Given the description of an element on the screen output the (x, y) to click on. 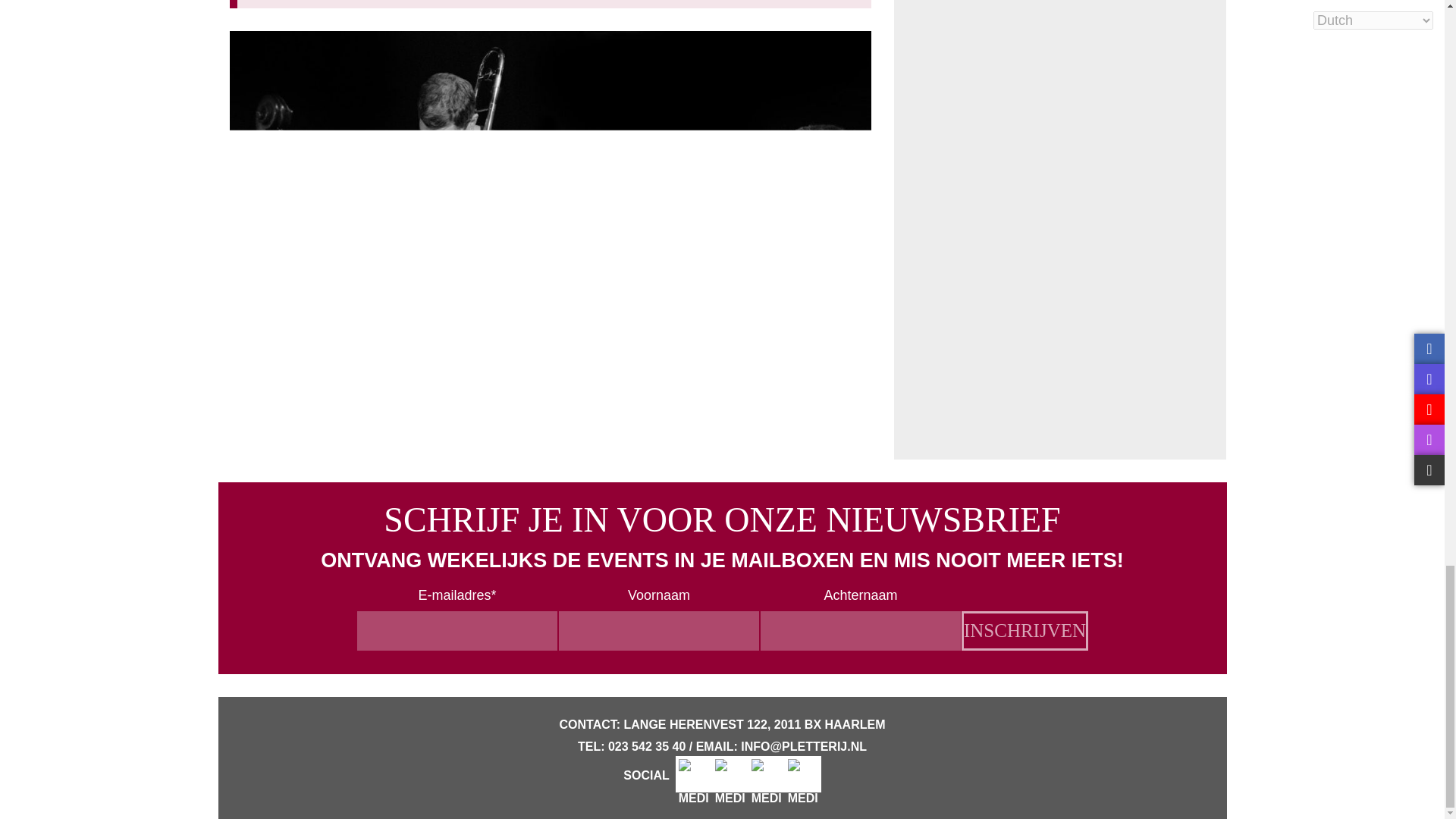
023 542 35 40 (646, 746)
instagram (729, 773)
023 542 35 40 (646, 746)
Social Media (802, 773)
Social Media (693, 773)
INSCHRIJVEN (1023, 630)
Social Media (766, 773)
